Given the description of an element on the screen output the (x, y) to click on. 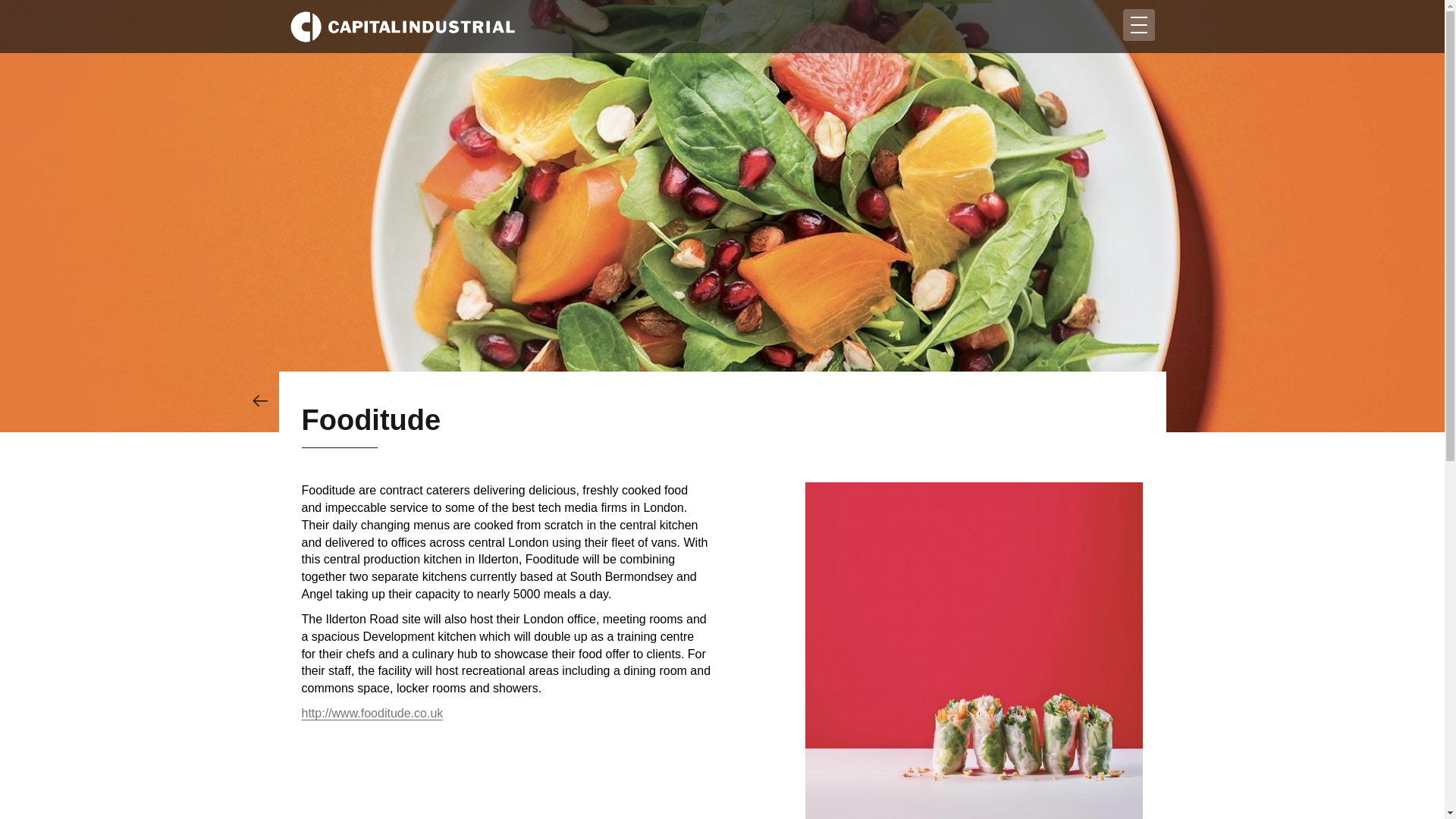
Capital Industrial (401, 27)
Back to Tenants (258, 399)
Toggle navigation (1138, 24)
